Given the description of an element on the screen output the (x, y) to click on. 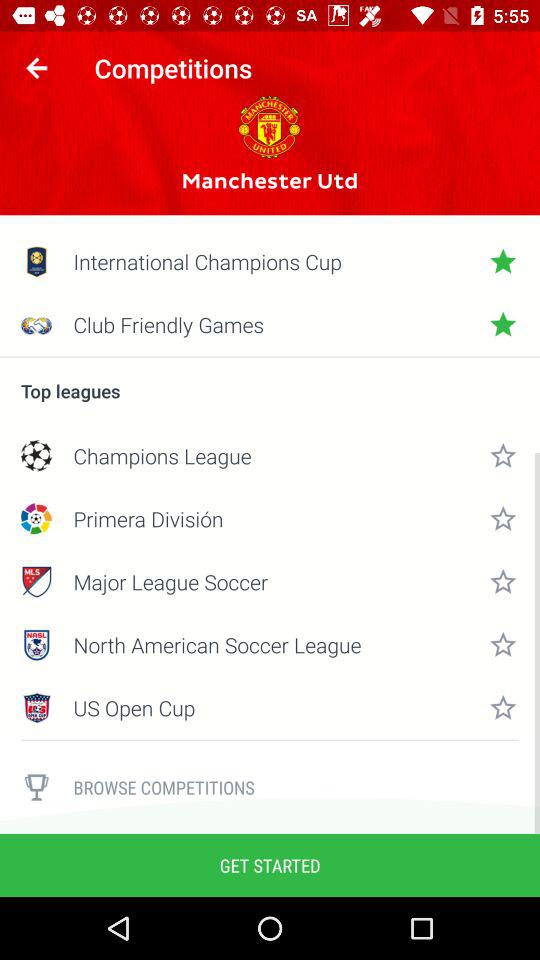
launch international champions cup (269, 261)
